Given the description of an element on the screen output the (x, y) to click on. 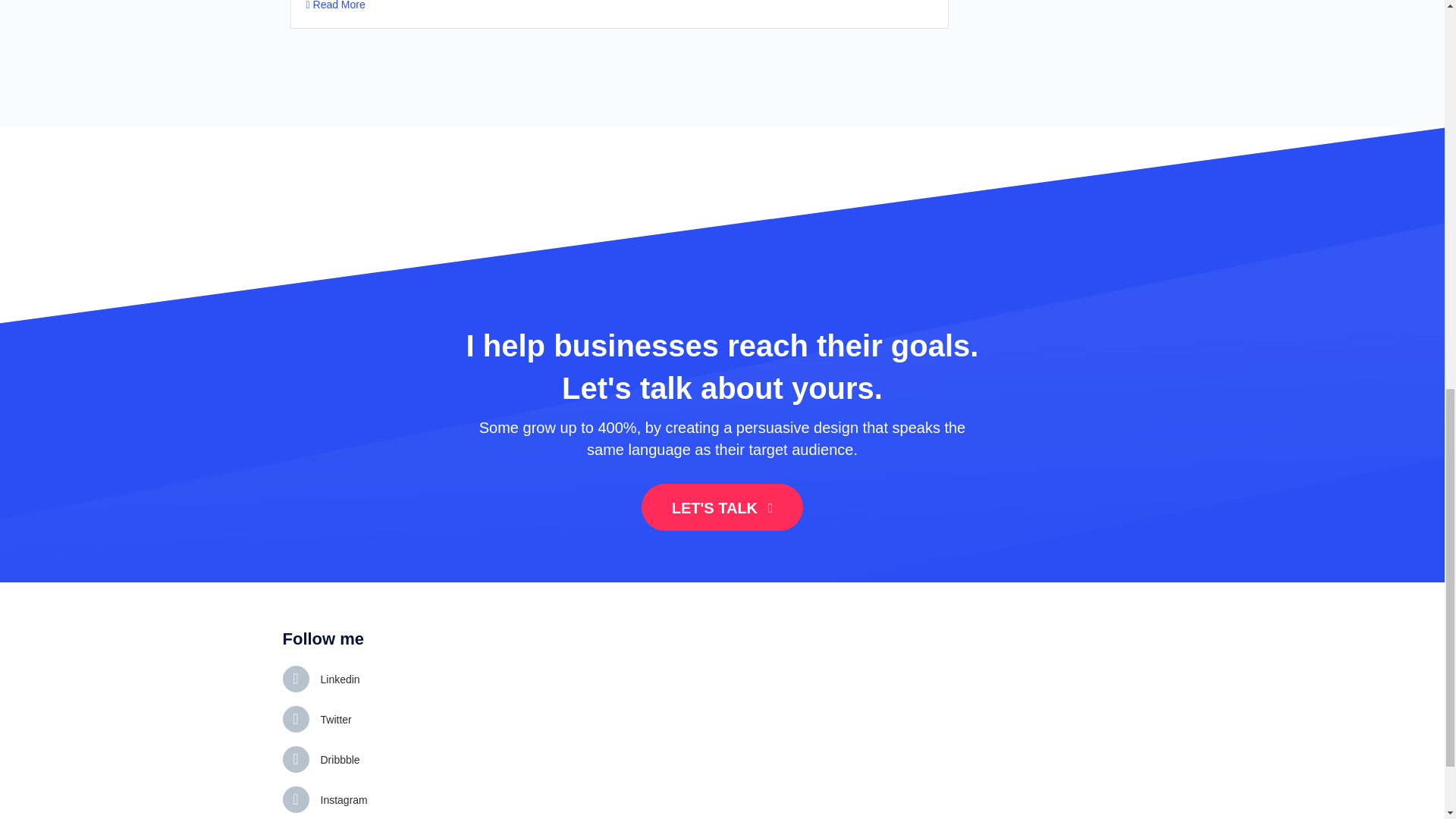
Twitter (335, 719)
LET'S TALK (722, 507)
Dribbble (339, 759)
Instagram (343, 799)
Linkedin (339, 679)
Read More (335, 5)
